Given the description of an element on the screen output the (x, y) to click on. 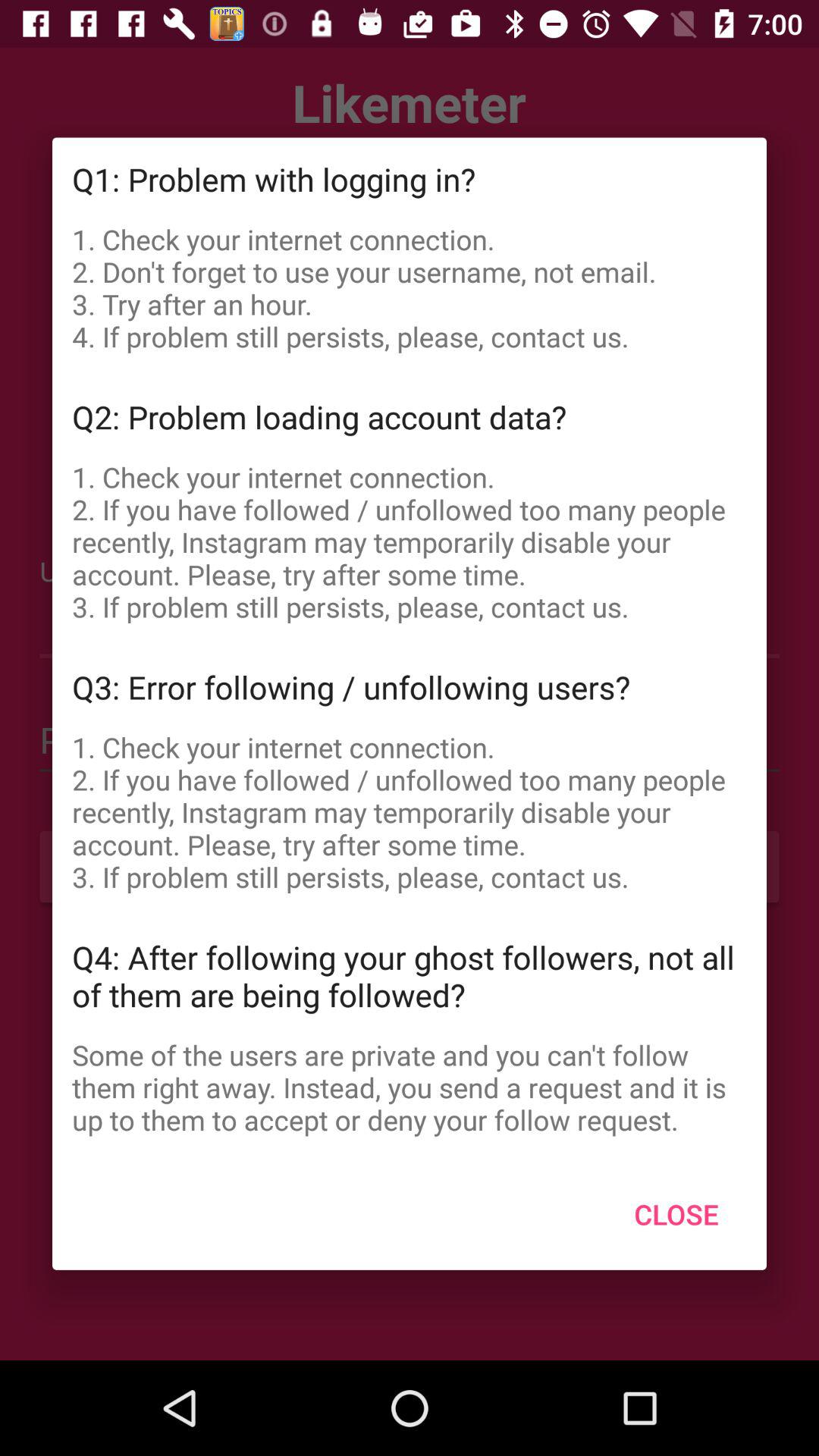
swipe to the close icon (676, 1214)
